Given the description of an element on the screen output the (x, y) to click on. 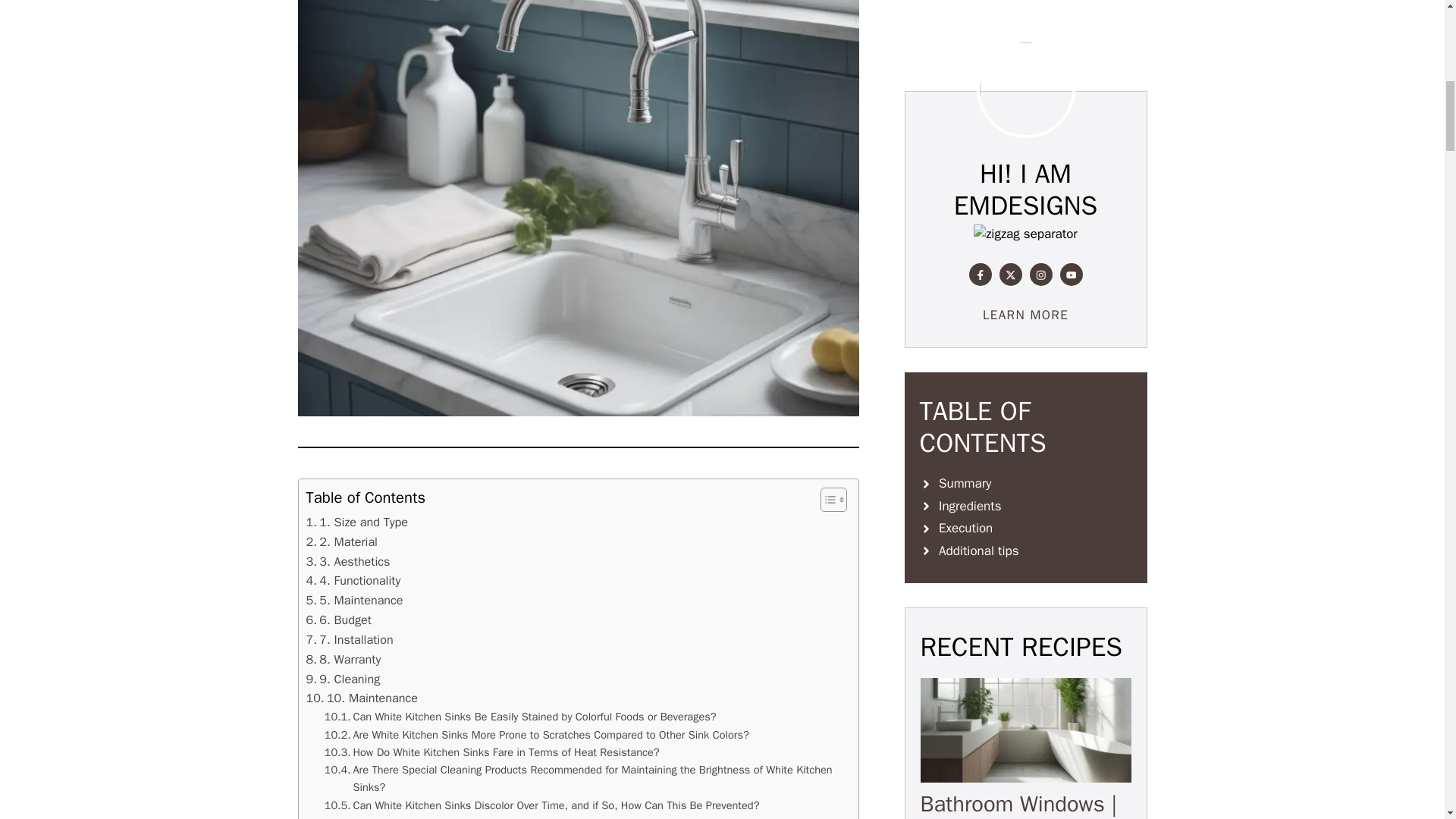
1. Size and Type (356, 522)
4. Functionality (353, 580)
2. Material (341, 542)
9. Cleaning (342, 679)
How Do White Kitchen Sinks Fare in Terms of Heat Resistance? (491, 752)
8. Warranty (343, 659)
10. Maintenance (361, 698)
